Given the description of an element on the screen output the (x, y) to click on. 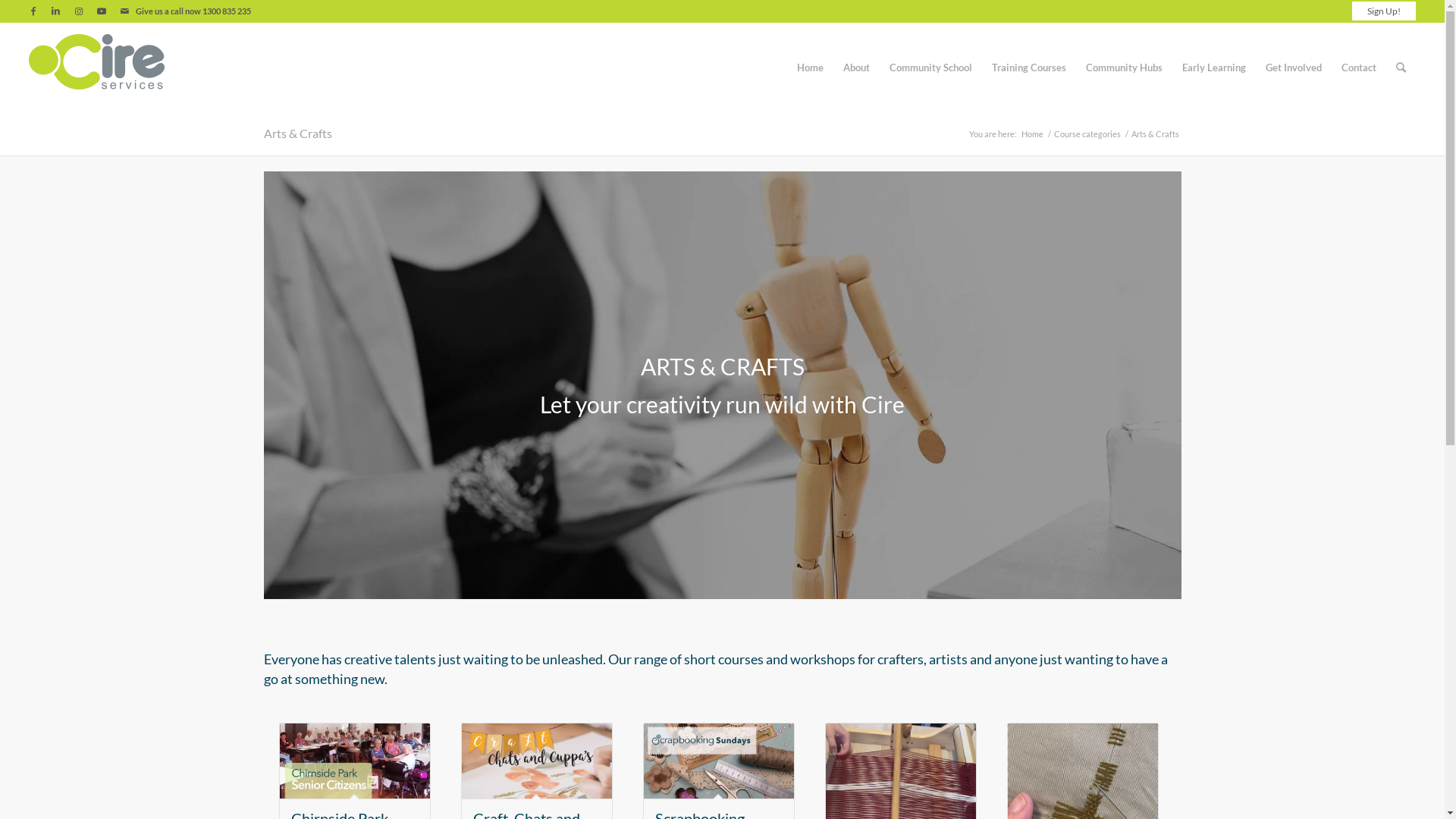
Facebook Element type: hover (32, 11)
Home Element type: text (1032, 133)
LOGO-Cire-Services Element type: hover (96, 67)
Get Involved Element type: text (1293, 67)
Sign Up! Element type: text (1383, 10)
LinkedIn Element type: hover (55, 11)
Instagram Element type: hover (78, 11)
Course categories Element type: text (1086, 133)
Mail Element type: hover (123, 11)
About Element type: text (856, 67)
Youtube Element type: hover (101, 11)
Home Element type: text (810, 67)
LOGO-Cire-Services Element type: hover (96, 61)
Training Courses Element type: text (1029, 67)
Contact Element type: text (1358, 67)
Community School Element type: text (930, 67)
Community Hubs Element type: text (1124, 67)
Early Learning Element type: text (1213, 67)
